Given the description of an element on the screen output the (x, y) to click on. 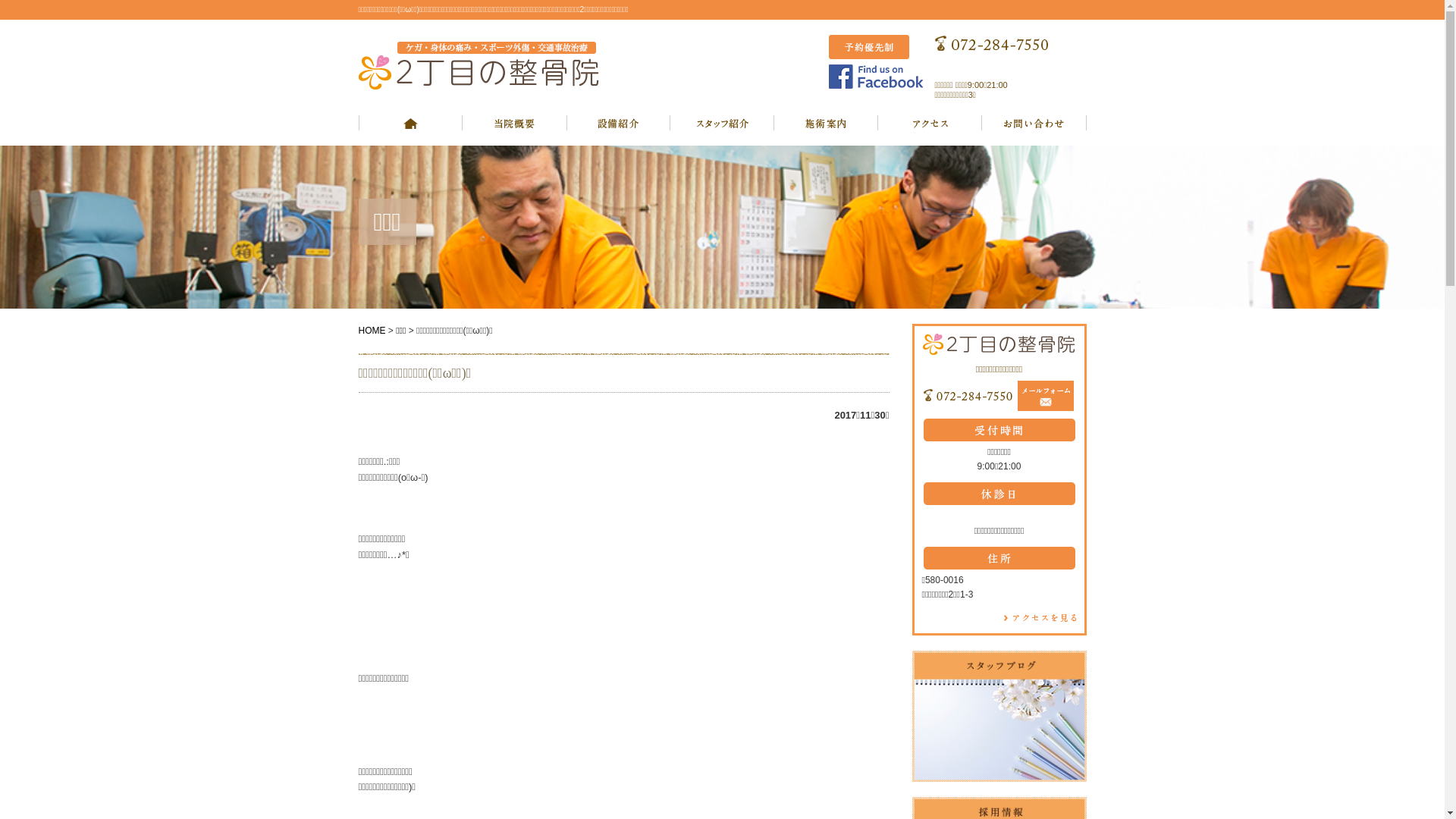
HOME Element type: text (371, 330)
